Given the description of an element on the screen output the (x, y) to click on. 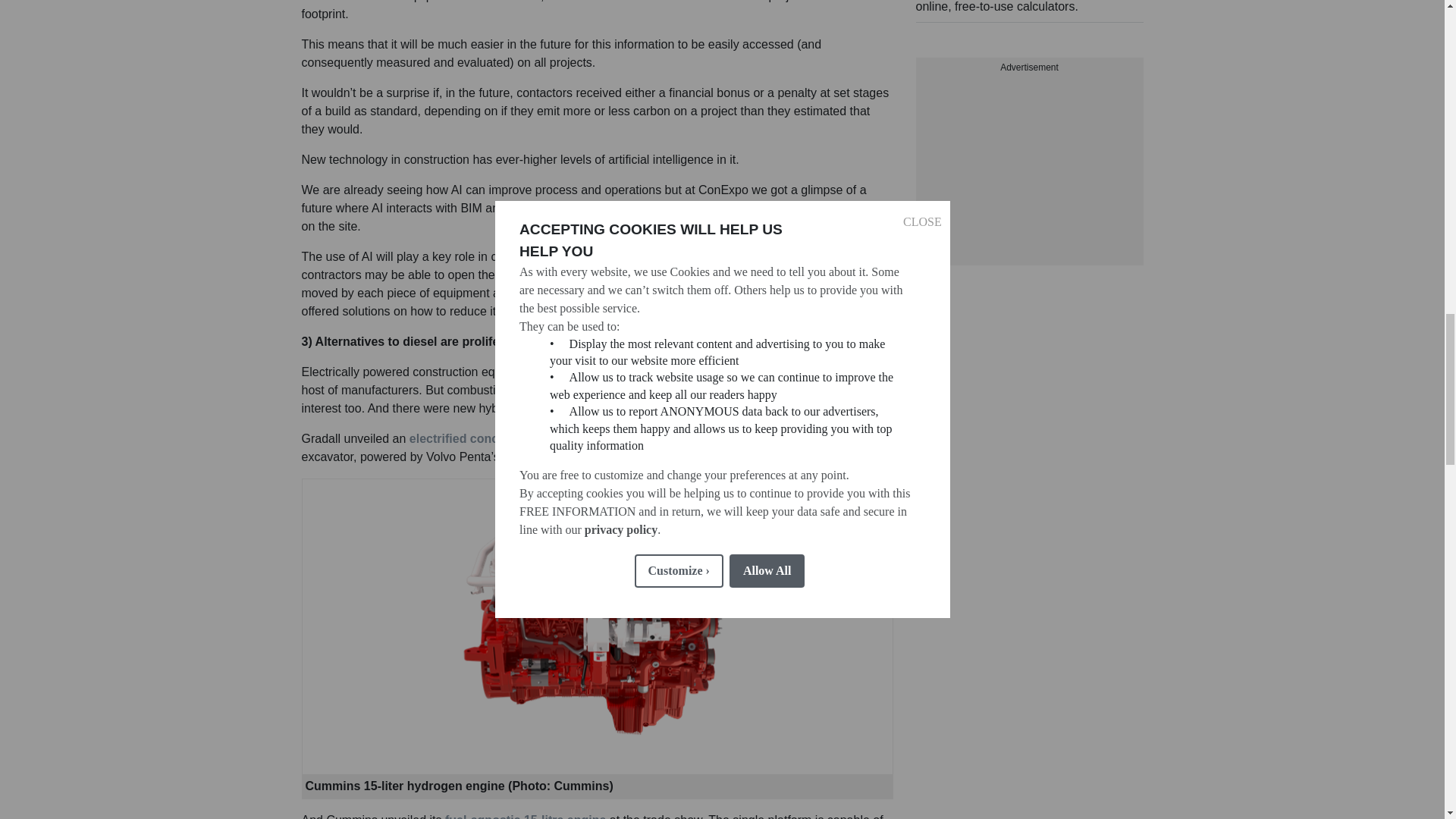
3rd party ad content (1028, 153)
